Given the description of an element on the screen output the (x, y) to click on. 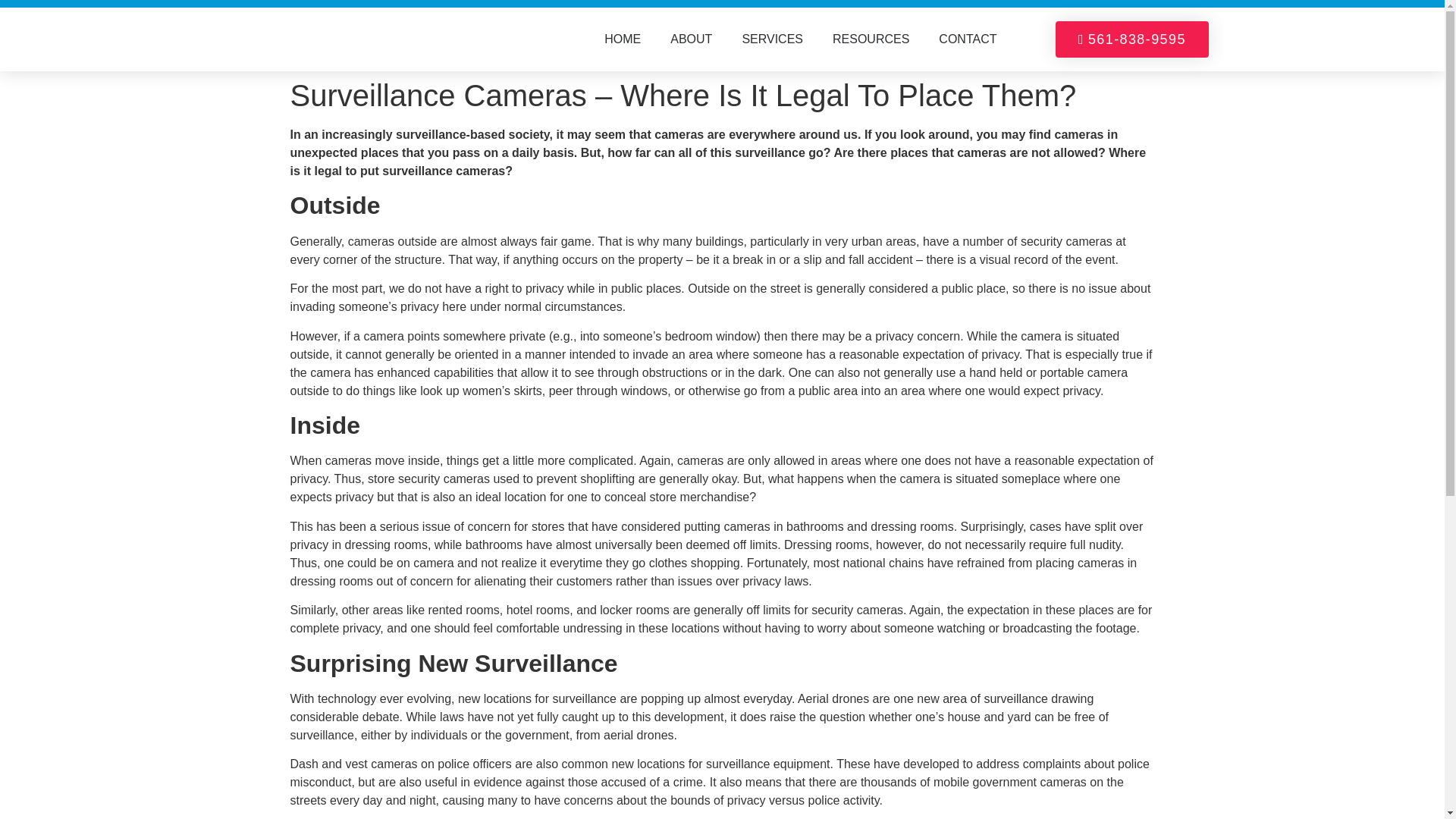
RESOURCES (871, 39)
SERVICES (772, 39)
CONTACT (967, 39)
